Given the description of an element on the screen output the (x, y) to click on. 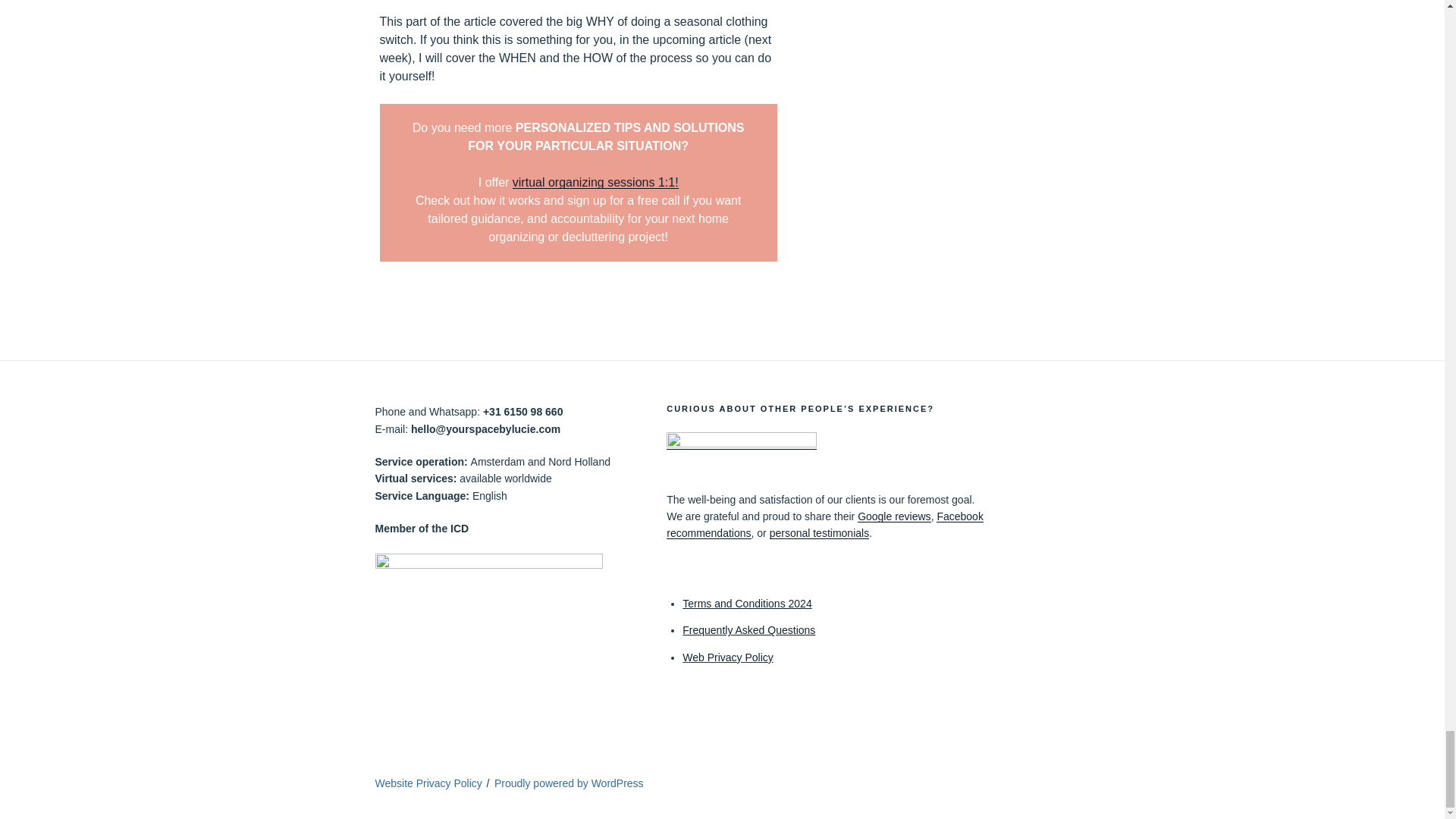
Facebook recommendations (825, 524)
Proudly powered by WordPress (569, 783)
virtual organizing sessions 1:1! (595, 182)
Website Privacy Policy (427, 783)
Google reviews (894, 516)
personal testimonials (819, 532)
Frequently Asked Questions (748, 630)
Web Privacy Policy (727, 657)
Terms and Conditions 2024 (746, 603)
